Given the description of an element on the screen output the (x, y) to click on. 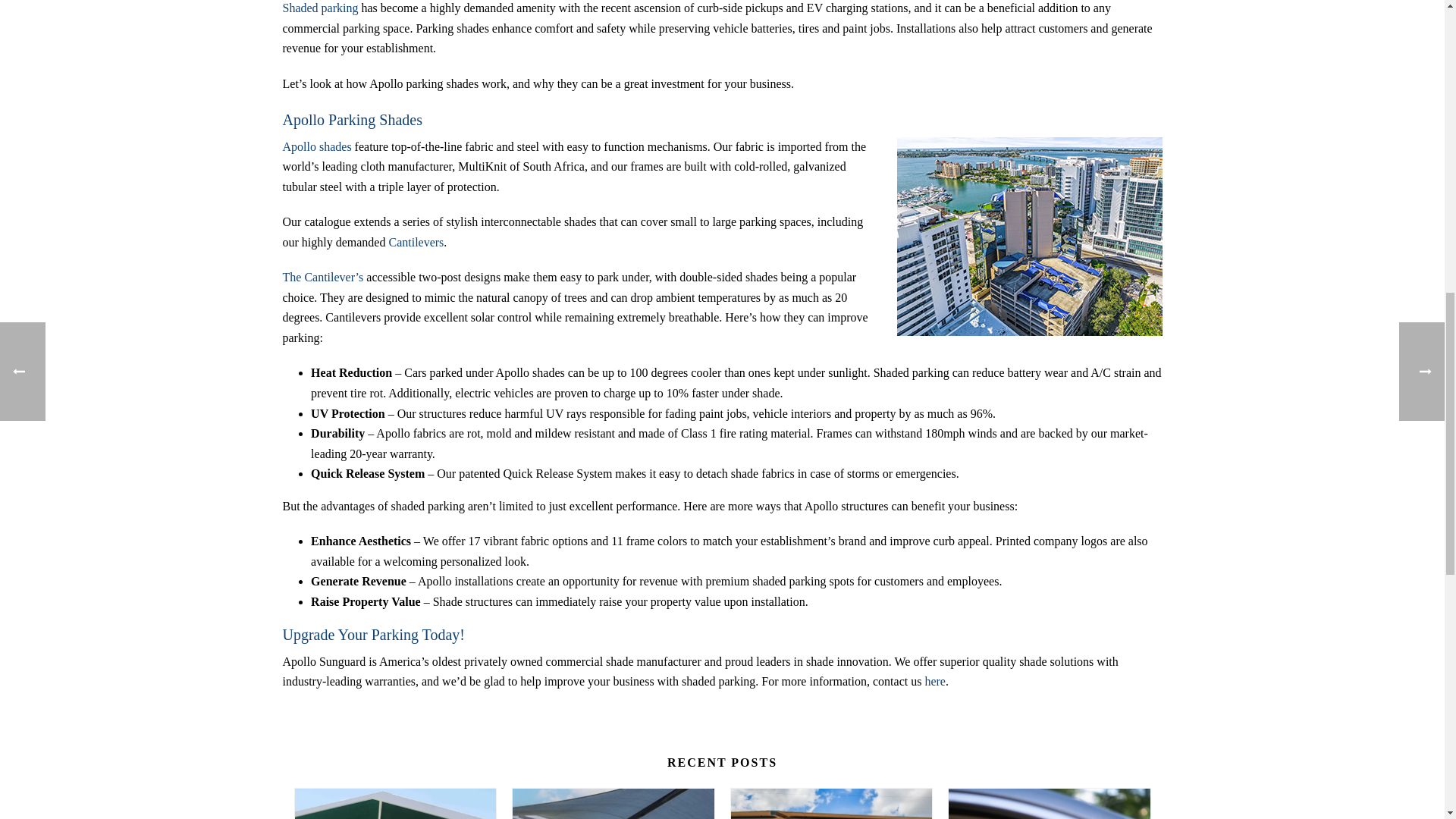
Shade Your EV Charging Stations with Apollo Sunguard (395, 803)
Hot Car Prevention Month (1049, 803)
Rev Up and Cool Down (831, 803)
